Given the description of an element on the screen output the (x, y) to click on. 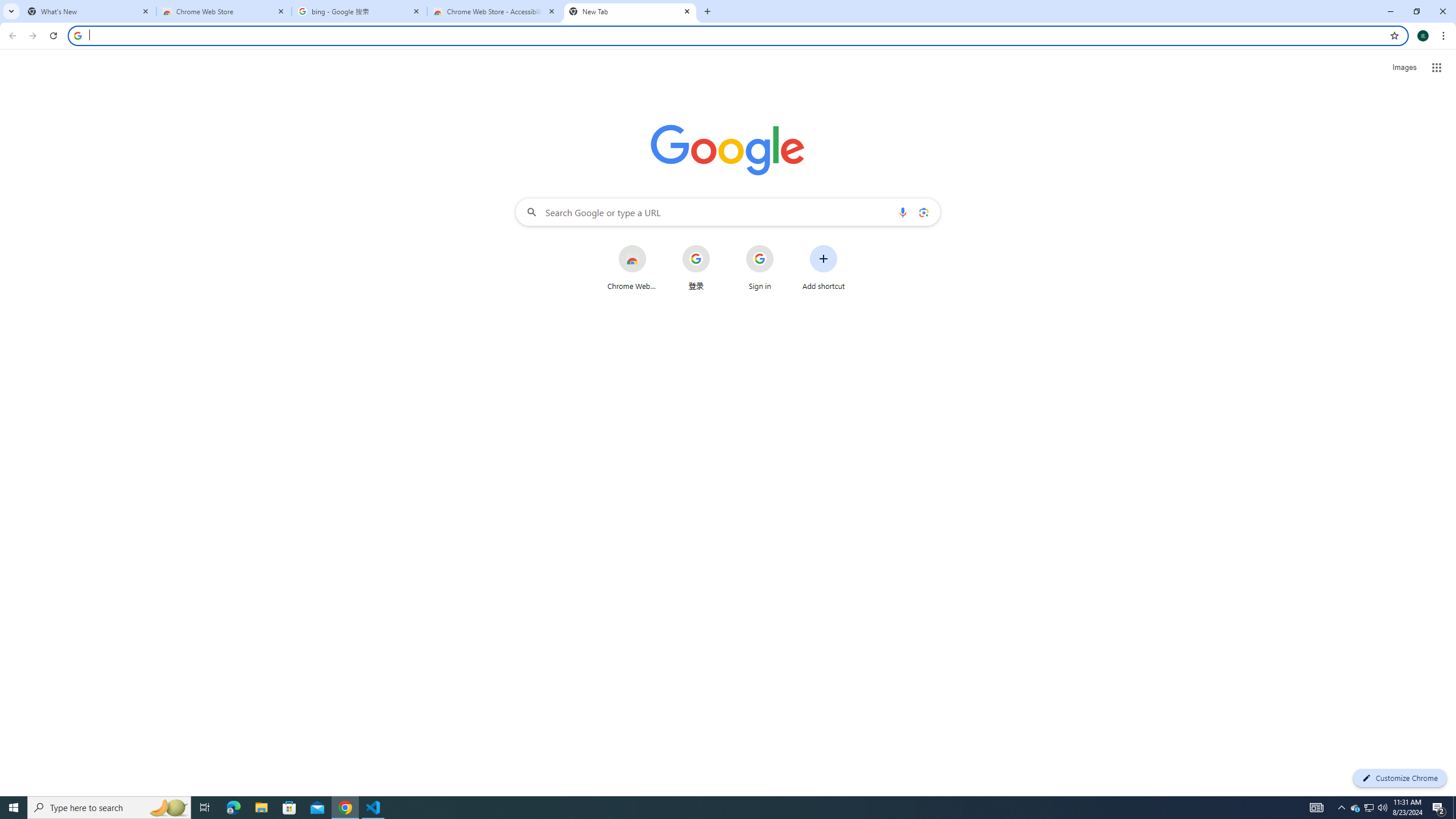
What's New (88, 11)
More actions for Sign in shortcut (782, 245)
Customize Chrome (1399, 778)
Add shortcut (824, 267)
